Given the description of an element on the screen output the (x, y) to click on. 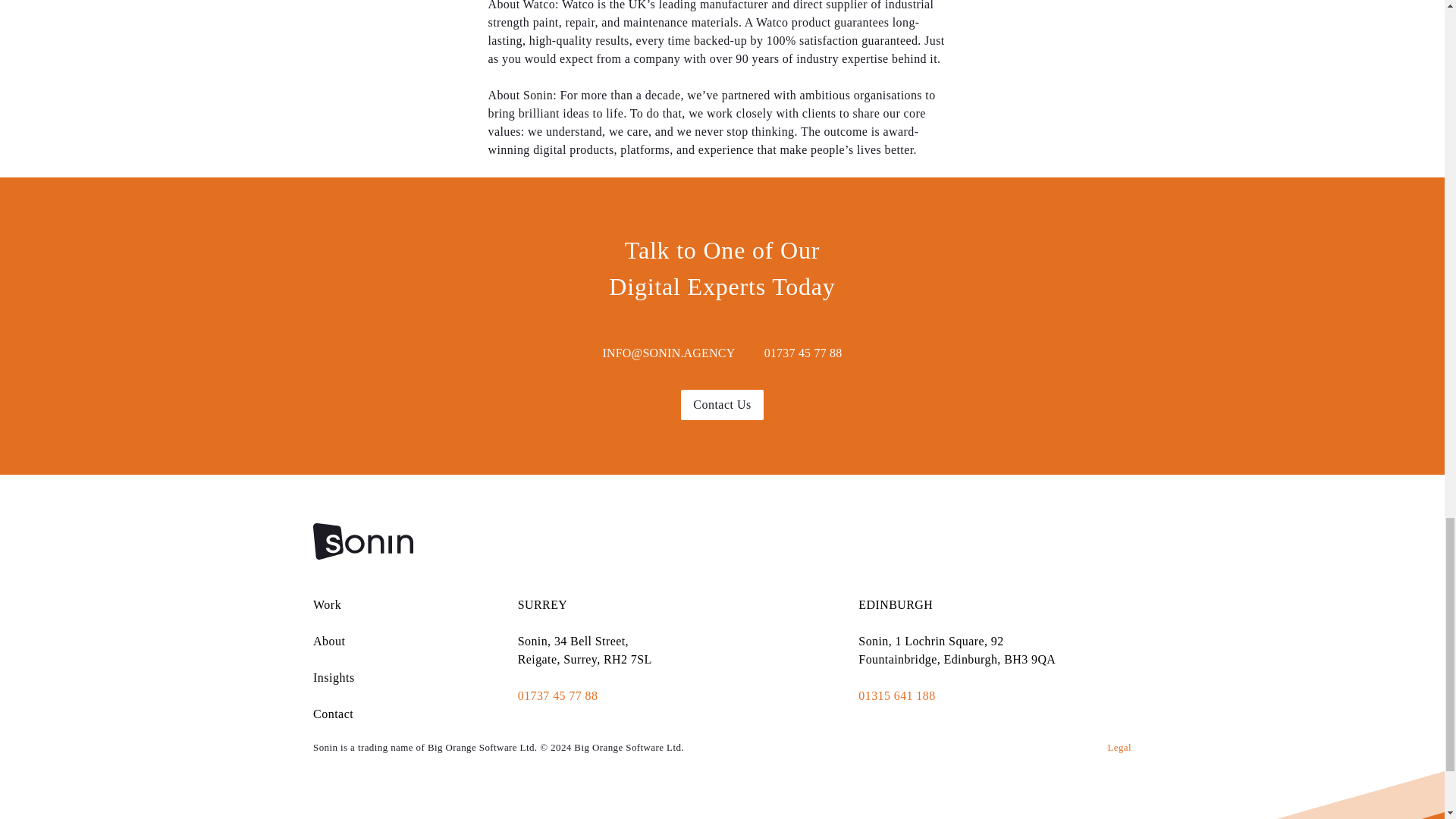
01737 45 77 88 (803, 353)
